Given the description of an element on the screen output the (x, y) to click on. 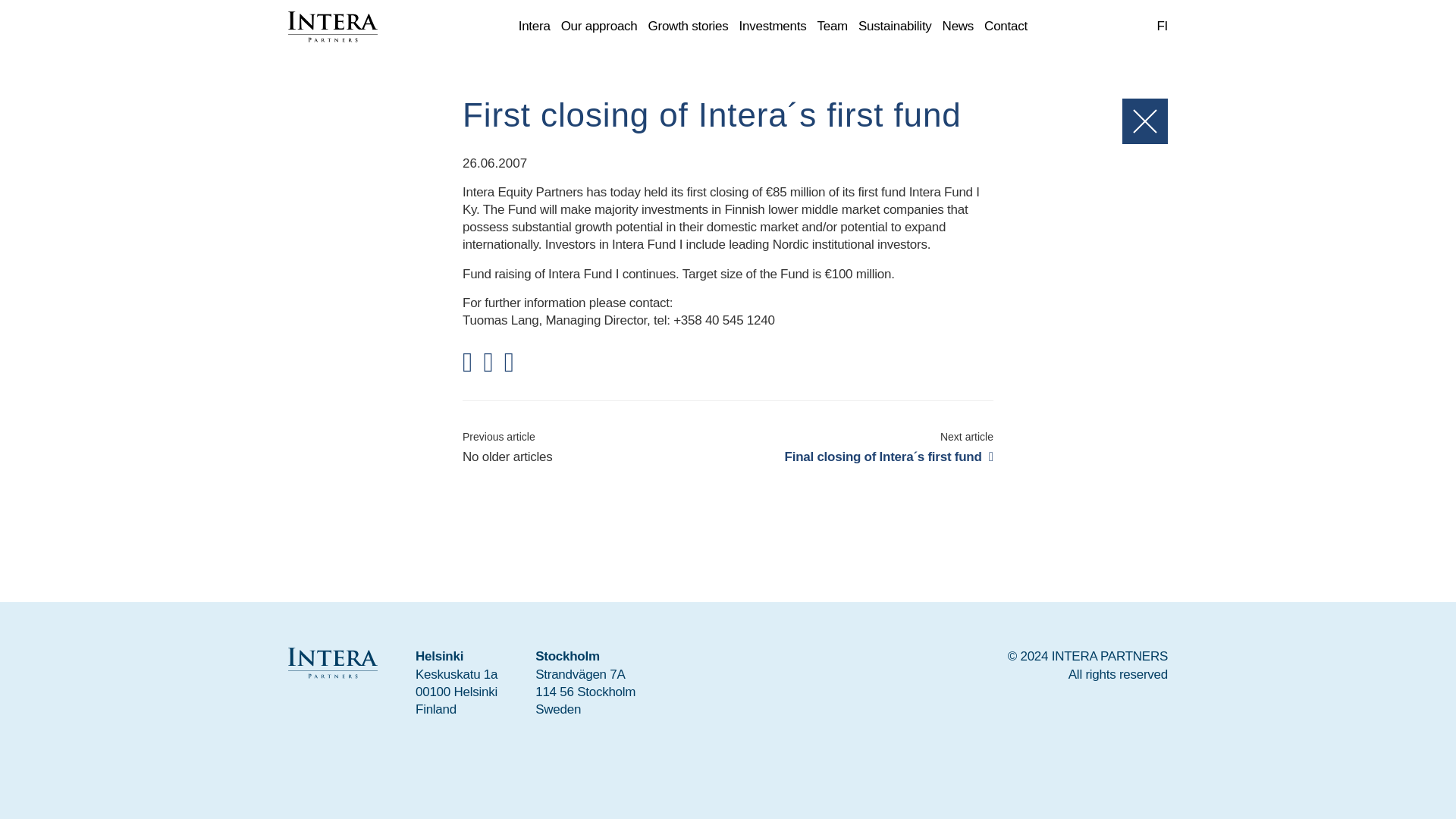
Sustainability (895, 26)
Our approach (598, 26)
Investments (772, 26)
Growth stories (688, 26)
